Given the description of an element on the screen output the (x, y) to click on. 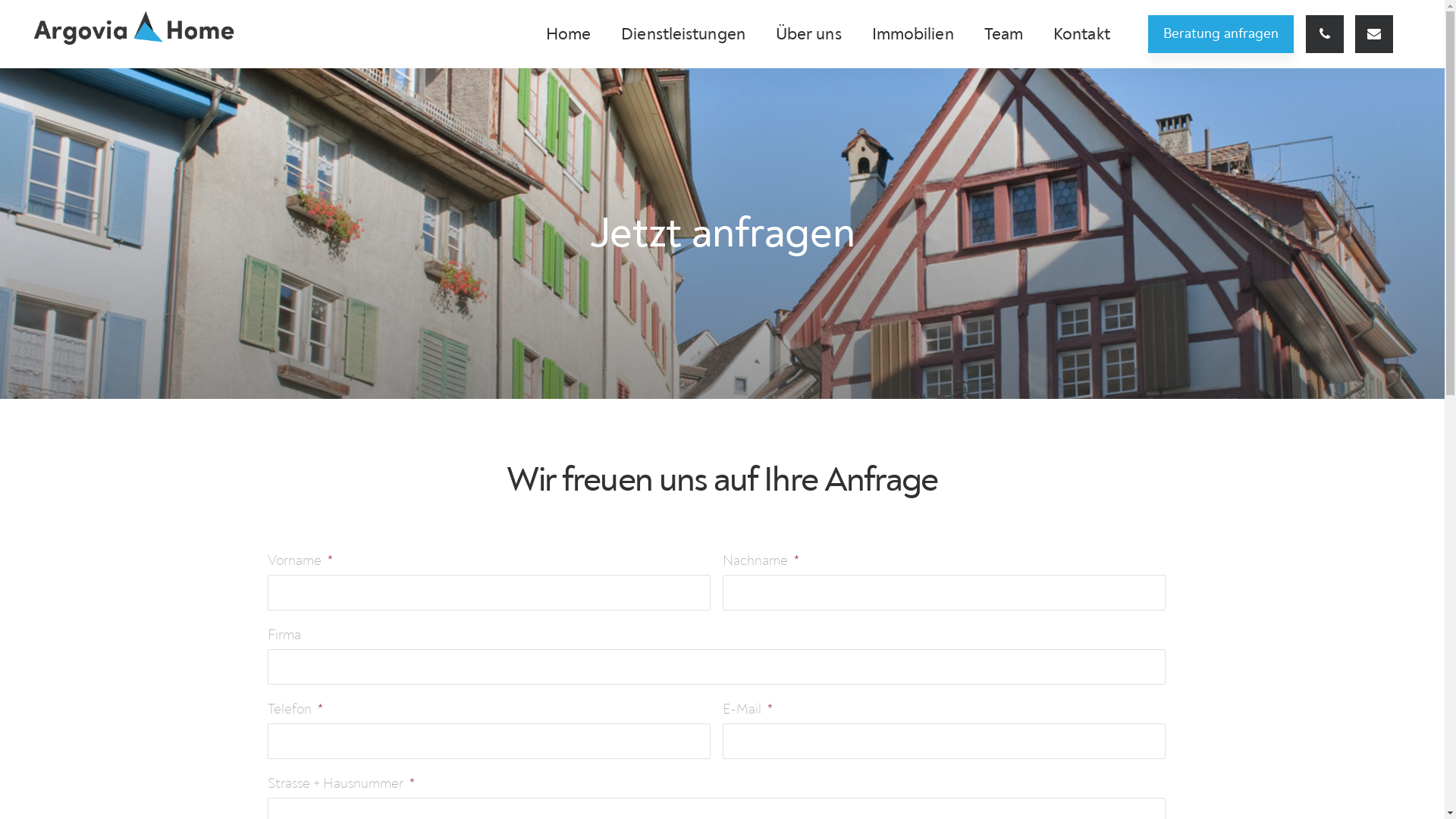
Dienstleistungen Element type: text (682, 34)
Team Element type: text (1003, 34)
Kontakt Element type: text (1081, 34)
Home Element type: text (567, 34)
Immobilien Element type: text (912, 34)
Beratung anfragen Element type: text (1221, 34)
